Given the description of an element on the screen output the (x, y) to click on. 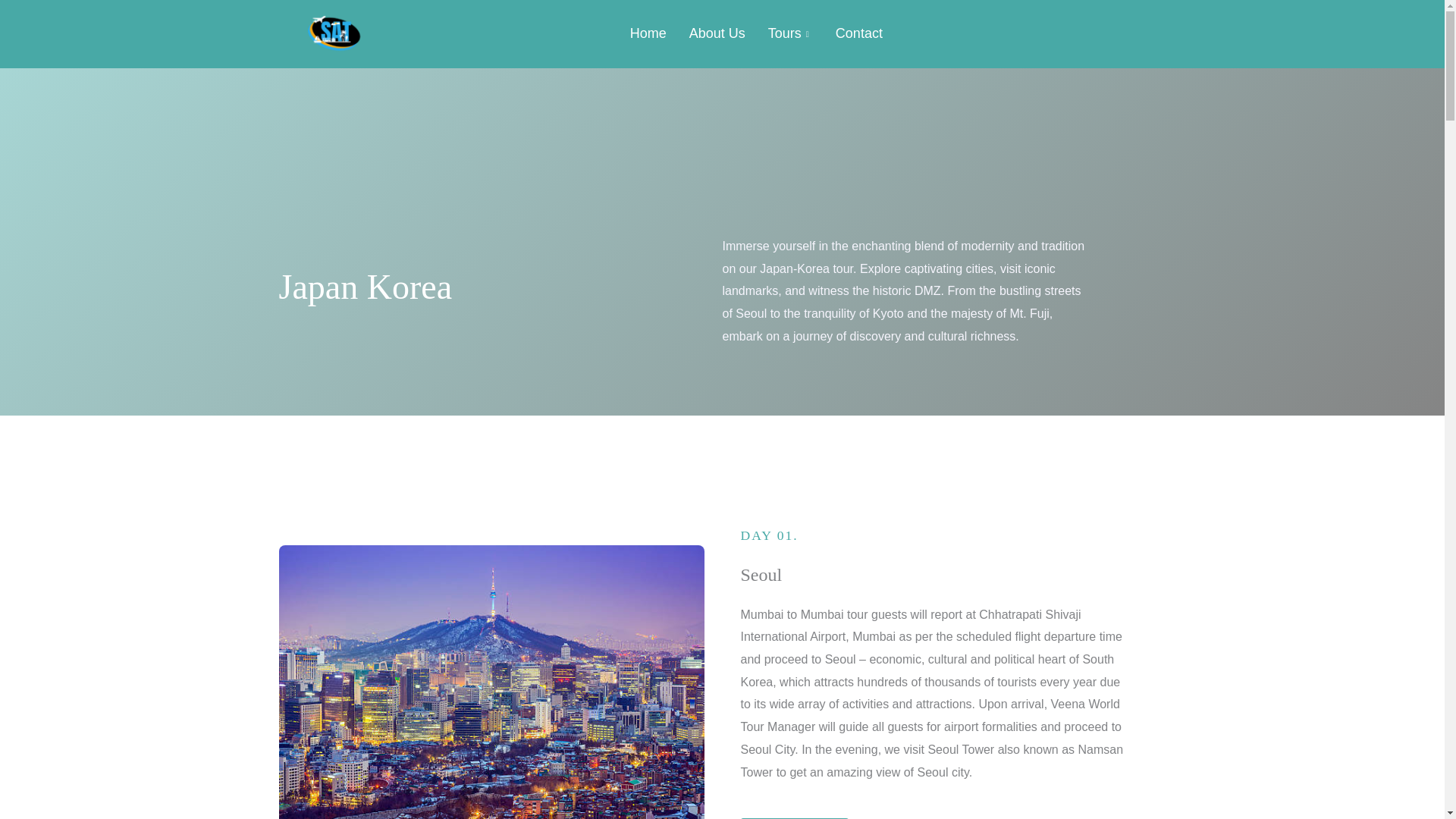
About Us (717, 33)
Tours (790, 33)
Contact (858, 33)
Home (648, 33)
